Given the description of an element on the screen output the (x, y) to click on. 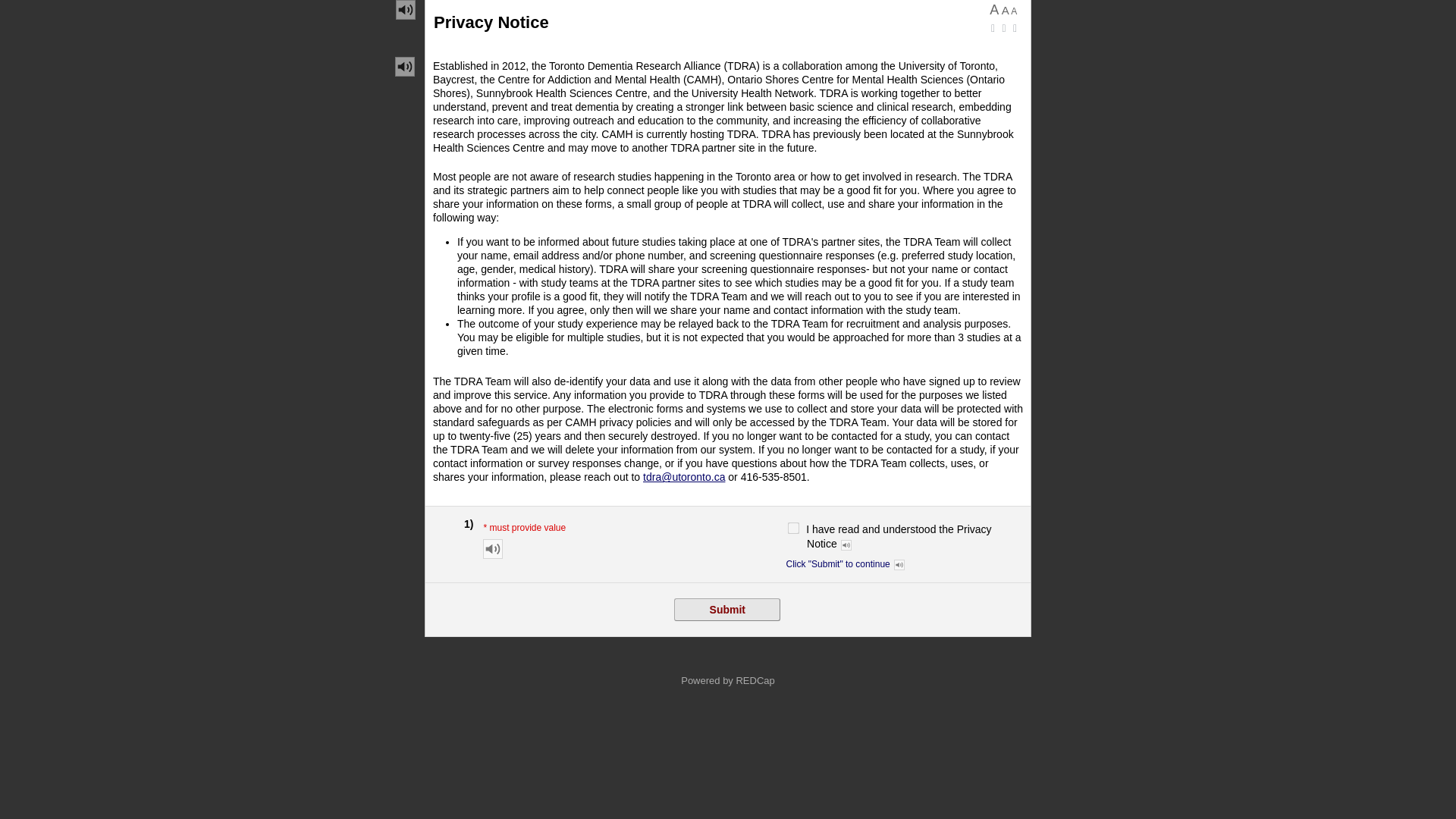
Submit (727, 609)
Powered by REDCap (727, 680)
on (792, 527)
